Given the description of an element on the screen output the (x, y) to click on. 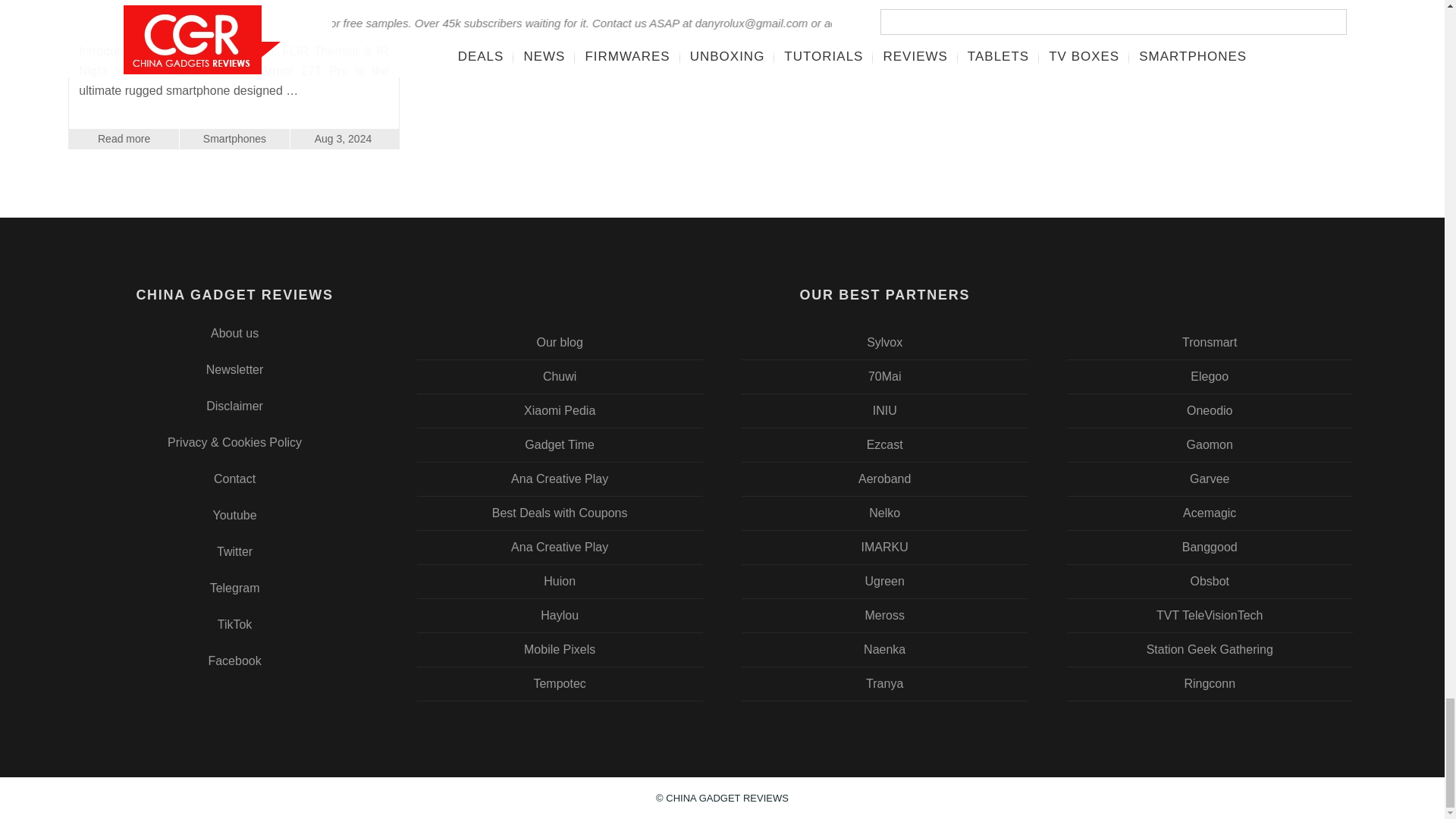
Best outdoor TV, Bathroom TV, RV TV and kitchen TV for sale (885, 342)
Huion Official Website (559, 581)
anacreativeplay (559, 547)
Best Deals with Coupons (559, 512)
Haylou website (559, 615)
